Given the description of an element on the screen output the (x, y) to click on. 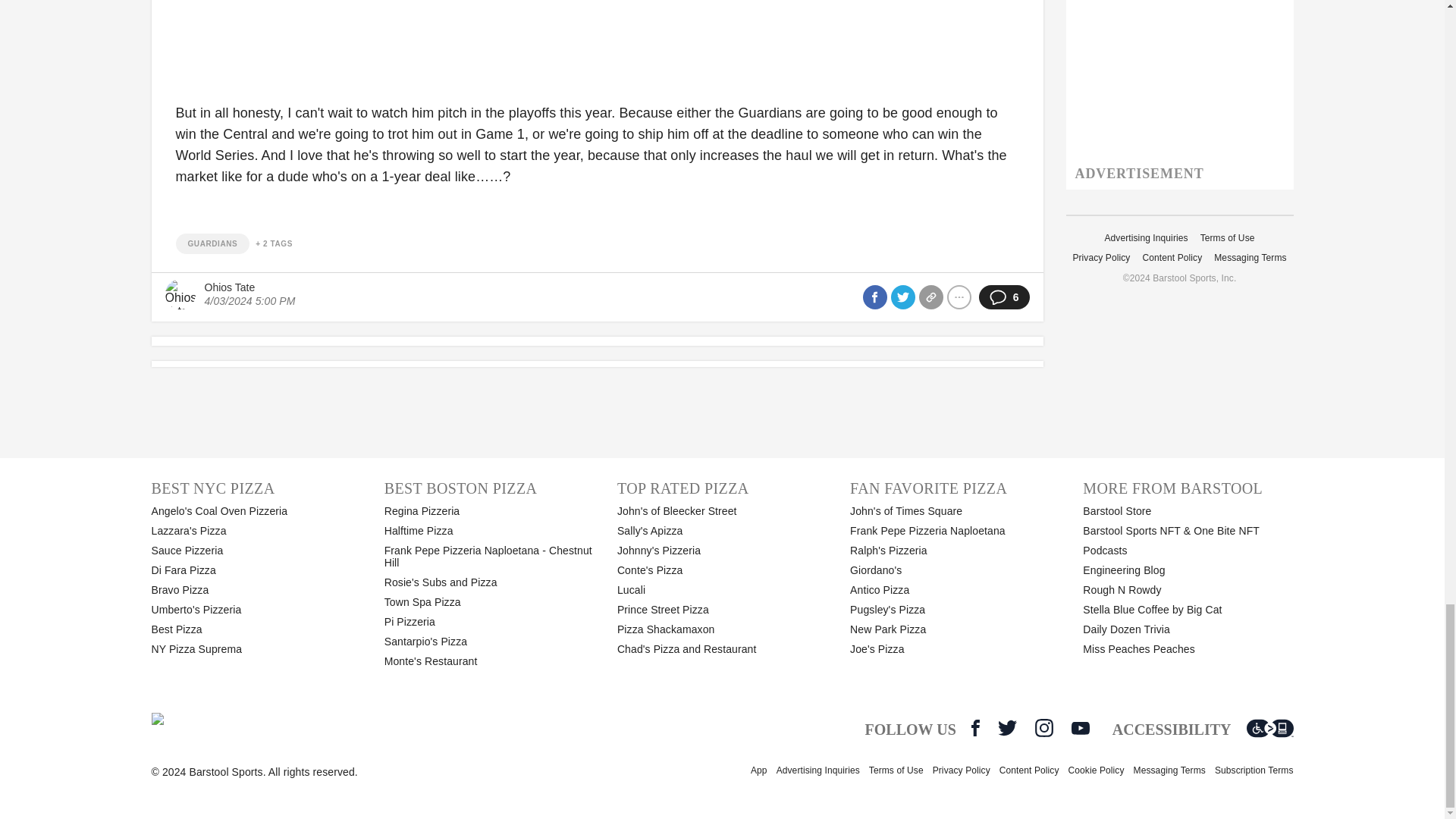
Twitter Icon (1006, 728)
YouTube Icon (1080, 728)
Instagram Icon (1043, 728)
Level Access website accessibility icon (1270, 727)
